Given the description of an element on the screen output the (x, y) to click on. 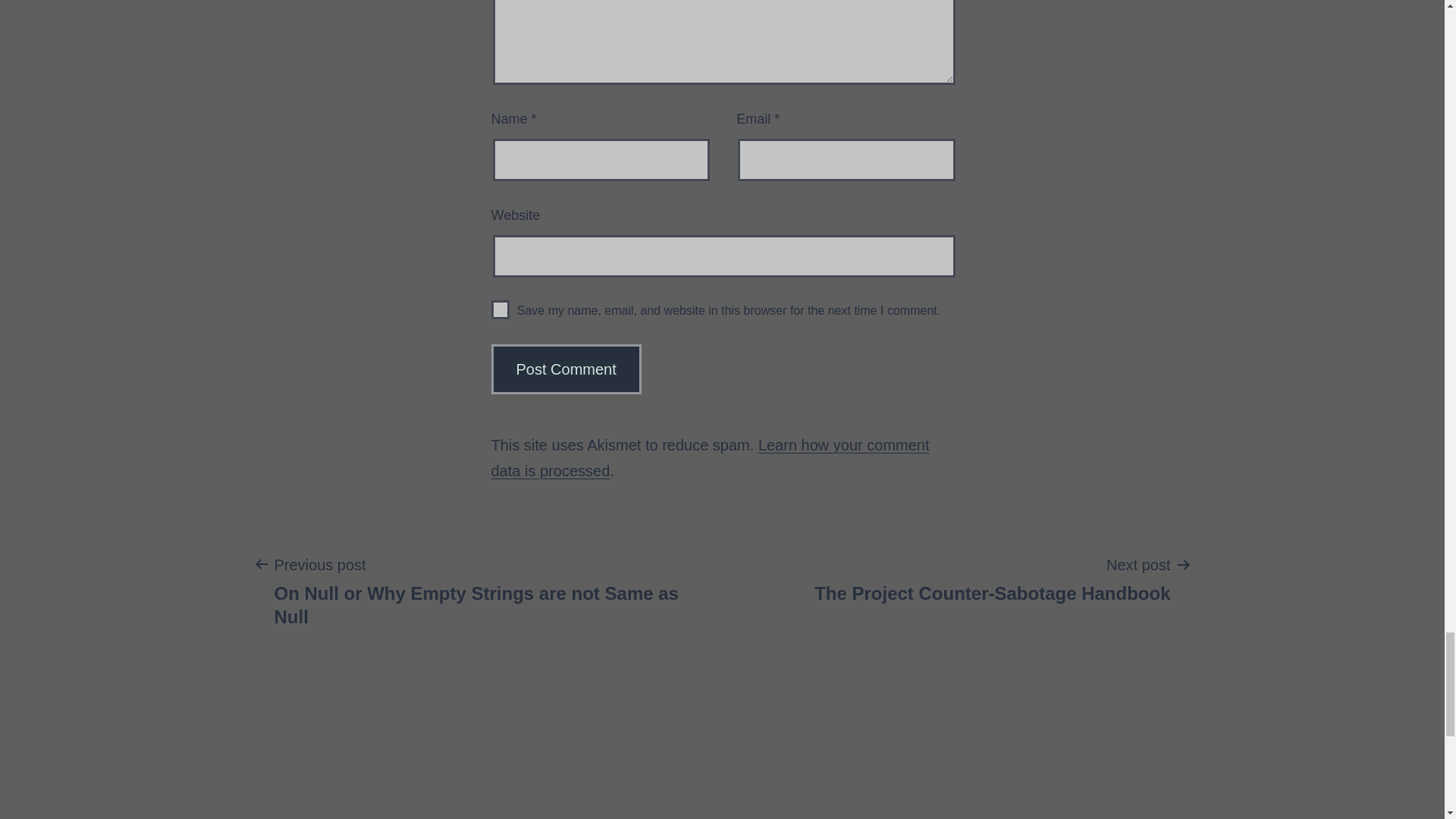
Post Comment (567, 368)
Learn how your comment data is processed (711, 457)
Post Comment (567, 368)
yes (500, 309)
